Given the description of an element on the screen output the (x, y) to click on. 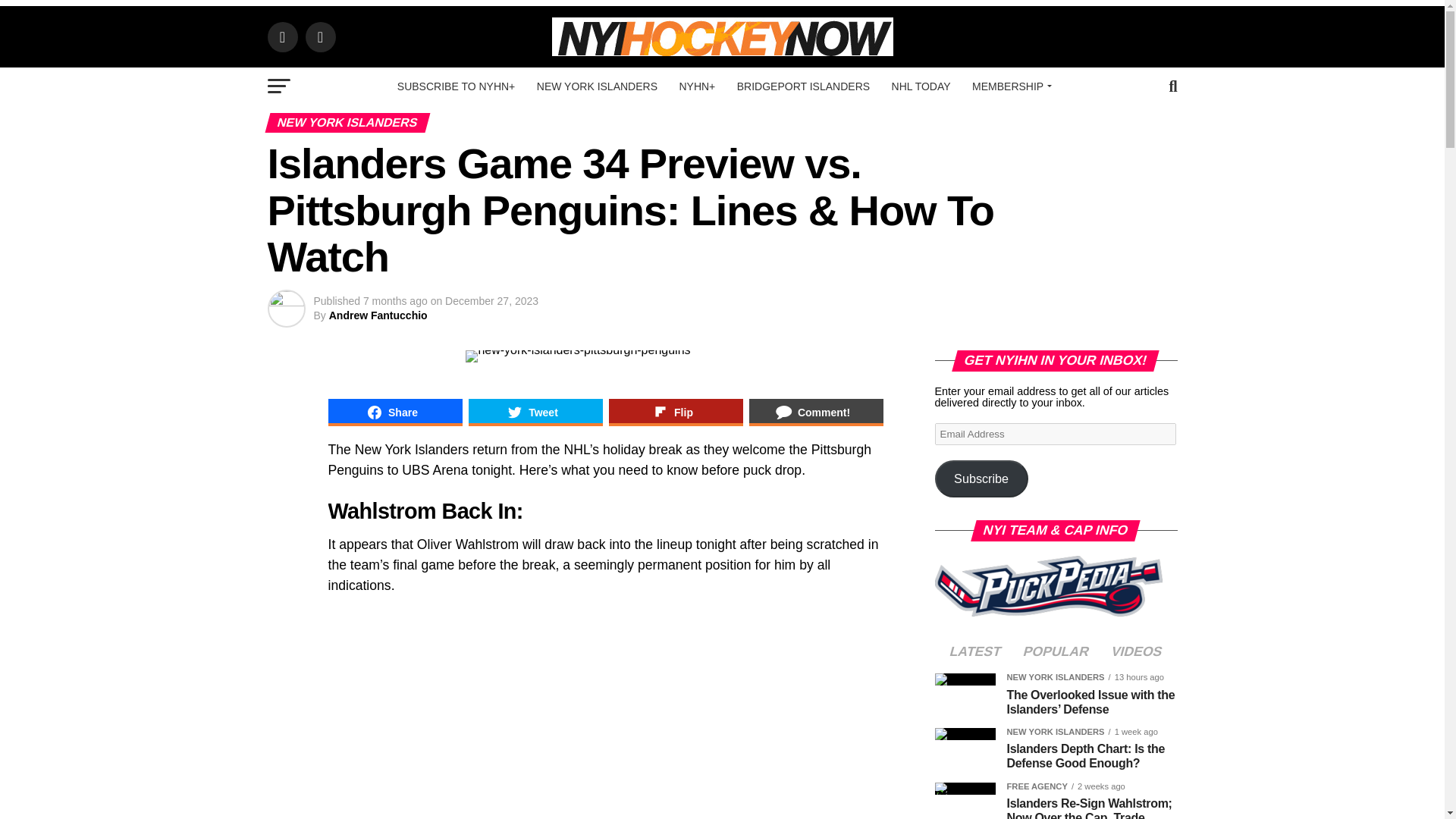
BRIDGEPORT ISLANDERS (803, 86)
Share on Flip (675, 411)
Share on Comment! (816, 411)
Posts by Andrew Fantucchio (378, 315)
NEW YORK ISLANDERS (596, 86)
NHL TODAY (920, 86)
Share on Share (394, 411)
Share on Tweet (535, 411)
